Given the description of an element on the screen output the (x, y) to click on. 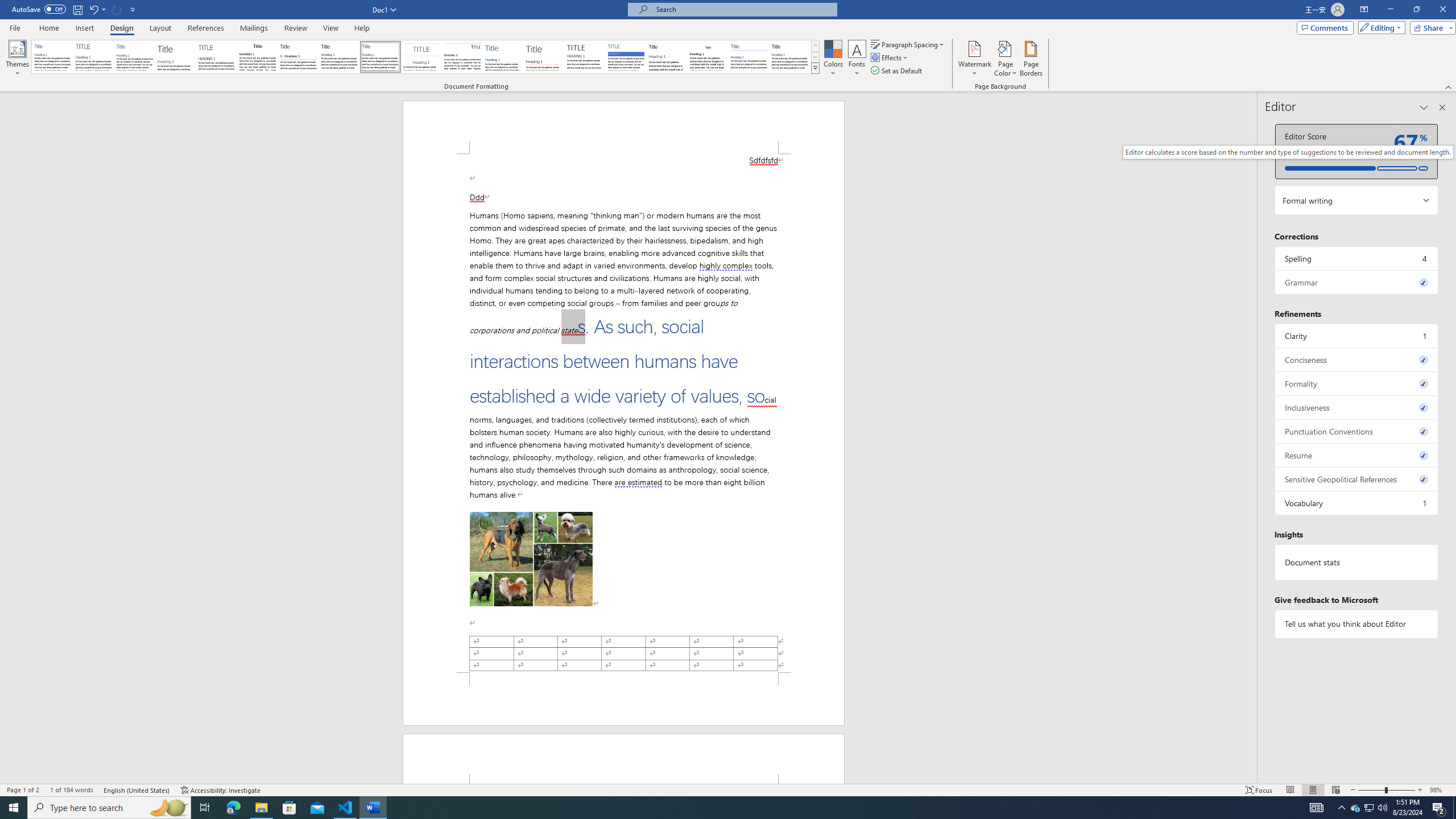
Shaded (625, 56)
Word 2013 (790, 56)
Resume, 0 issues. Press space or enter to review items. (1356, 454)
Black & White (Capitalized) (216, 56)
AutomationID: QuickStylesSets (425, 56)
Word (666, 56)
Document statistics (1356, 561)
Casual (379, 56)
